Given the description of an element on the screen output the (x, y) to click on. 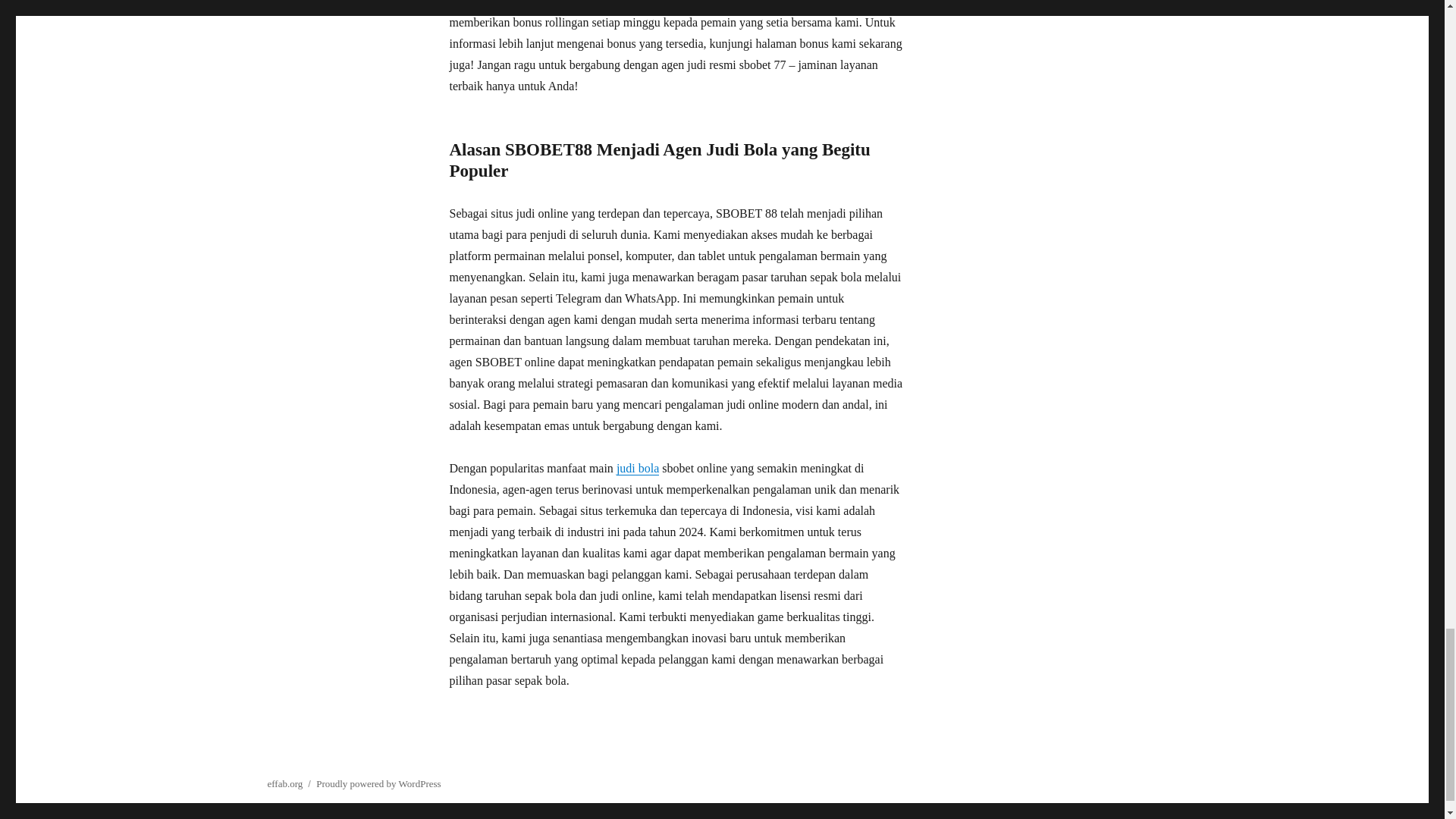
judi bola (637, 468)
effab.org (284, 783)
Proudly powered by WordPress (378, 783)
